Given the description of an element on the screen output the (x, y) to click on. 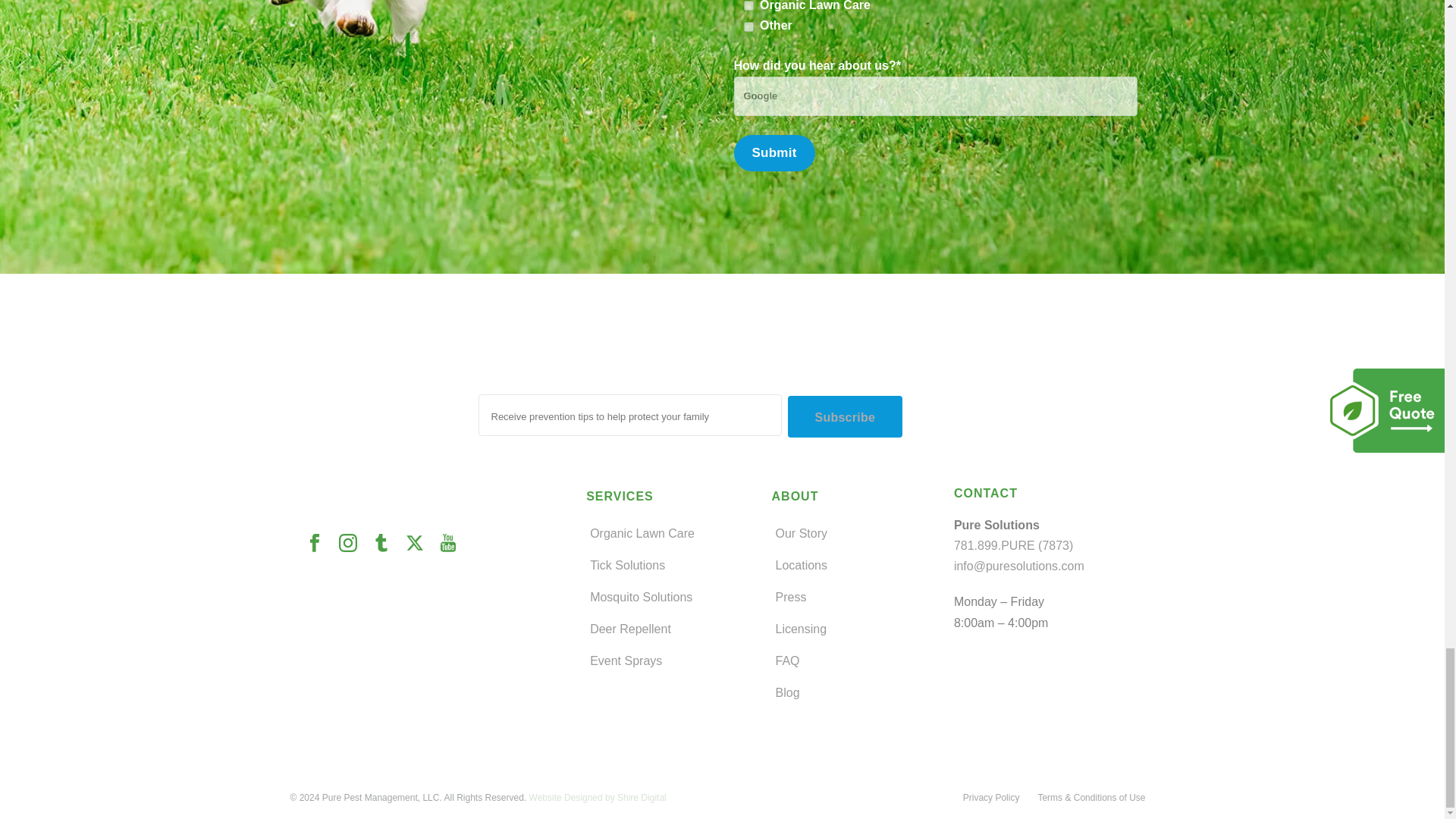
Follow Us on instagram (354, 543)
Submit (774, 153)
Organic Lawn Care (749, 5)
Other (749, 26)
Subscribe (844, 416)
Follow Us on tumblr (387, 543)
Follow Us on facebook (320, 543)
